Given the description of an element on the screen output the (x, y) to click on. 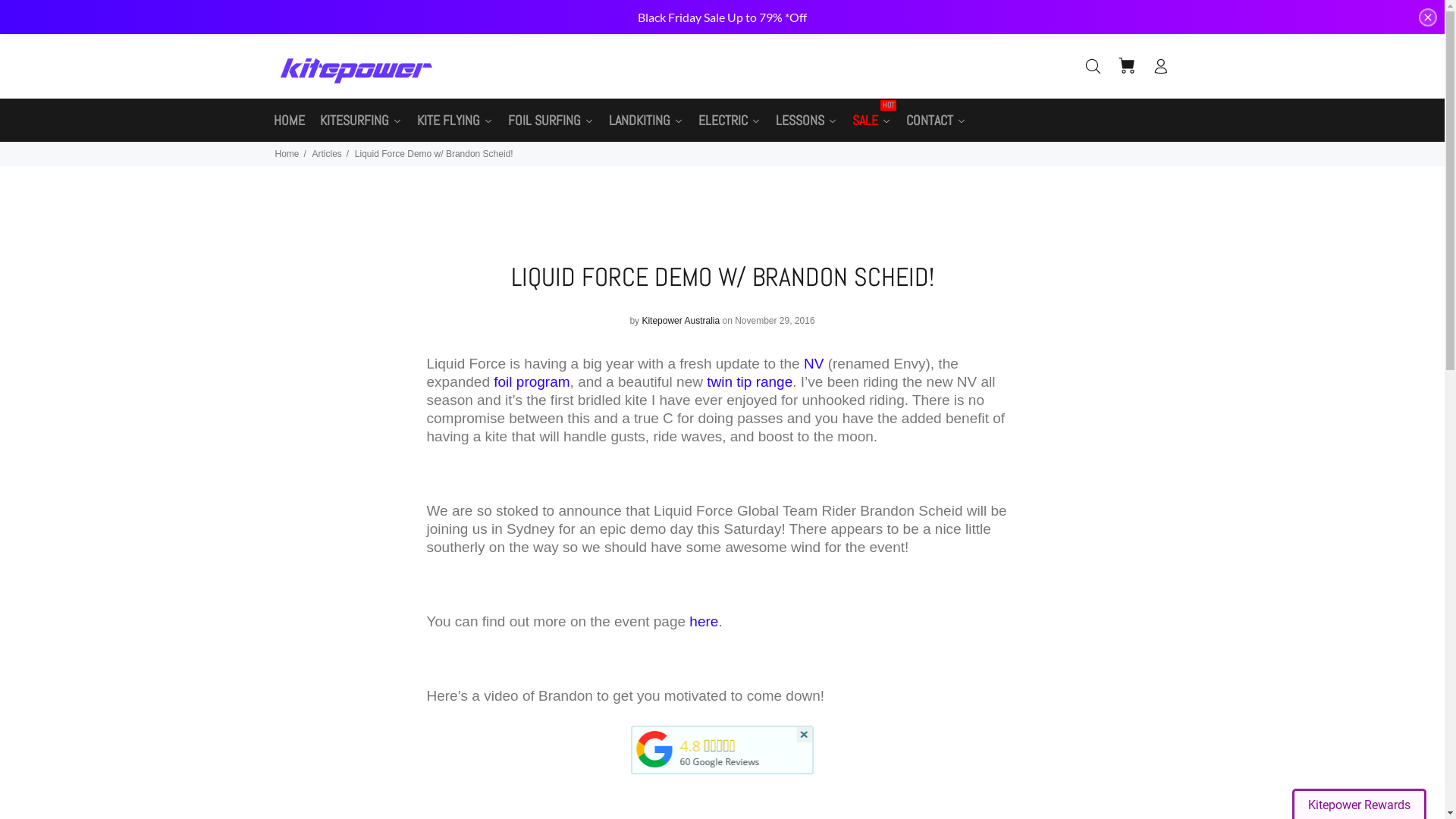
LANDKITING Element type: text (645, 119)
60 Google Reviews Element type: text (719, 759)
HOME Element type: text (288, 119)
ELECTRIC Element type: text (728, 119)
FOIL SURFING Element type: text (550, 119)
Send Element type: text (926, 404)
KITE FLYING Element type: text (454, 119)
Articles Element type: text (327, 153)
NV Element type: text (813, 363)
foil program Element type: text (531, 381)
Kitepower Australia Element type: hover (654, 766)
LESSONS Element type: text (805, 119)
twin tip range Element type: text (747, 381)
SALE
HOT Element type: text (871, 119)
KITESURFING Element type: text (360, 119)
here Element type: text (703, 621)
CONTACT Element type: text (934, 119)
Home Element type: text (286, 153)
